Given the description of an element on the screen output the (x, y) to click on. 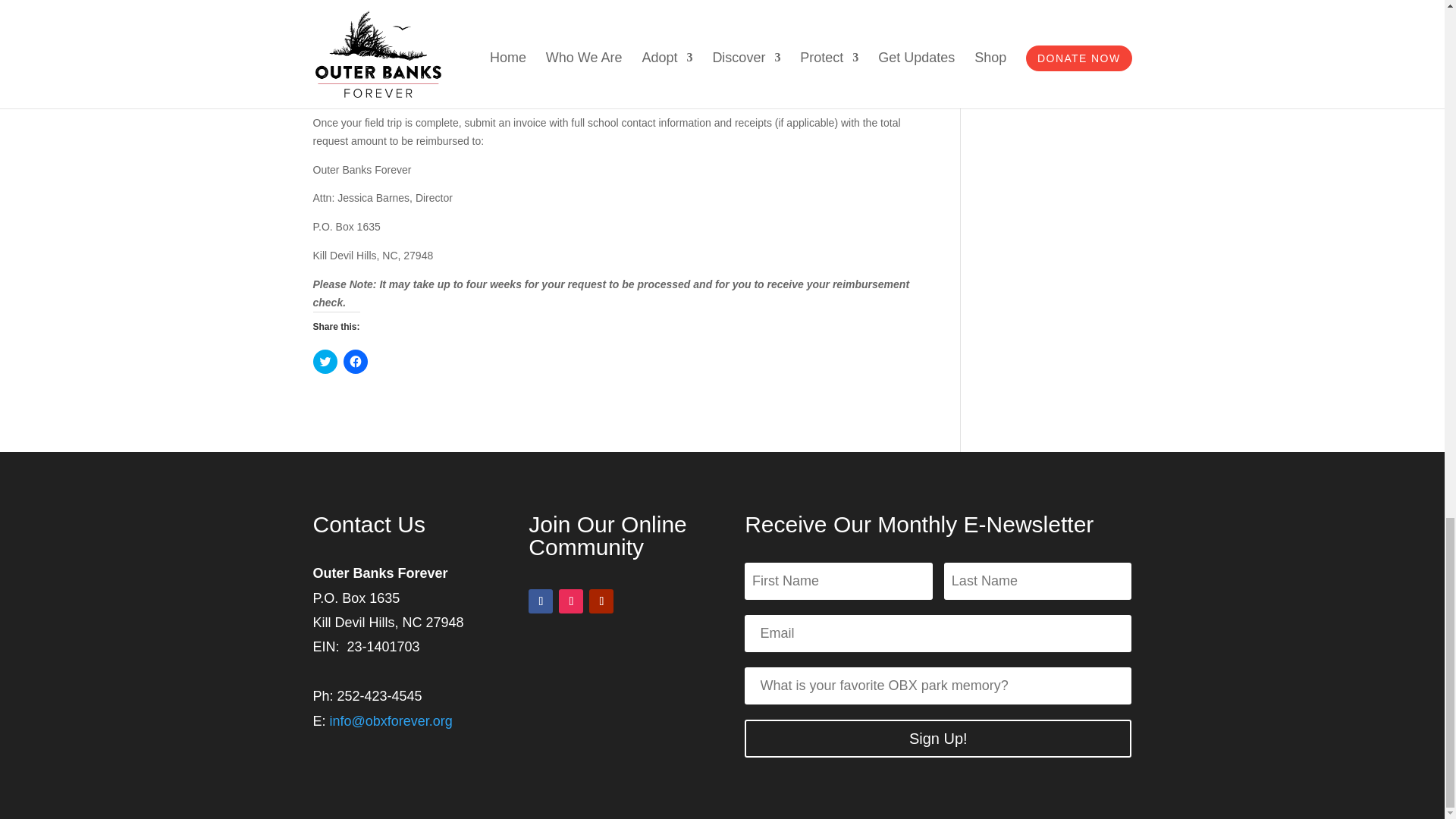
Click to share on Twitter (324, 361)
Follow on Youtube (600, 600)
Sign Up! (937, 738)
Click to share on Facebook (354, 361)
Follow on Instagram (571, 600)
Follow on Facebook (540, 600)
